Given the description of an element on the screen output the (x, y) to click on. 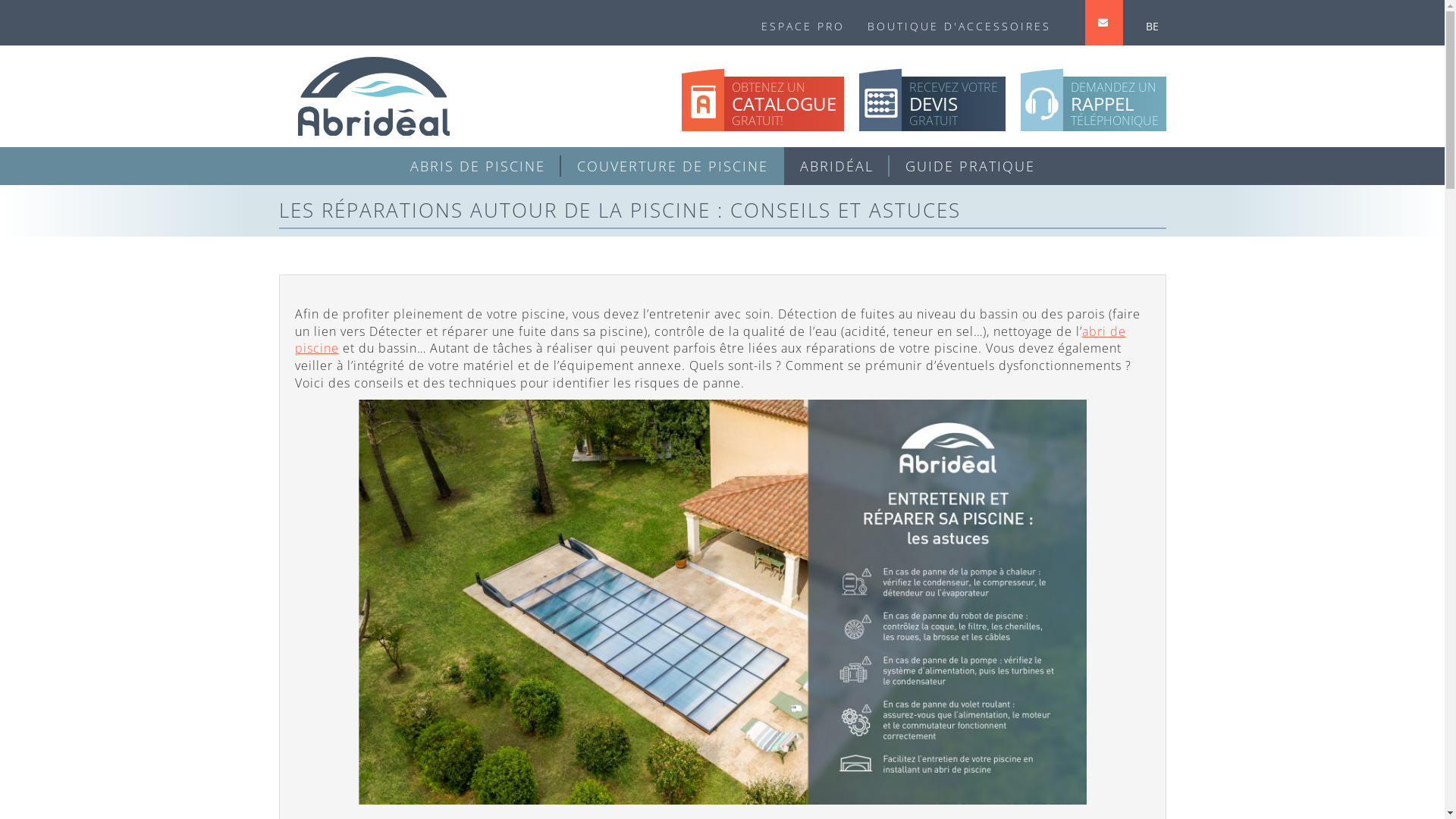
COUVERTURE DE PISCINE Element type: text (672, 166)
abri de piscine Element type: text (709, 340)
BOUTIQUE D'ACCESSOIRES Element type: text (958, 22)
ESPACE PRO Element type: text (802, 22)
CONTACT Element type: text (1103, 24)
GUIDE PRATIQUE Element type: text (969, 166)
ABRIS DE PISCINE Element type: text (477, 166)
